Given the description of an element on the screen output the (x, y) to click on. 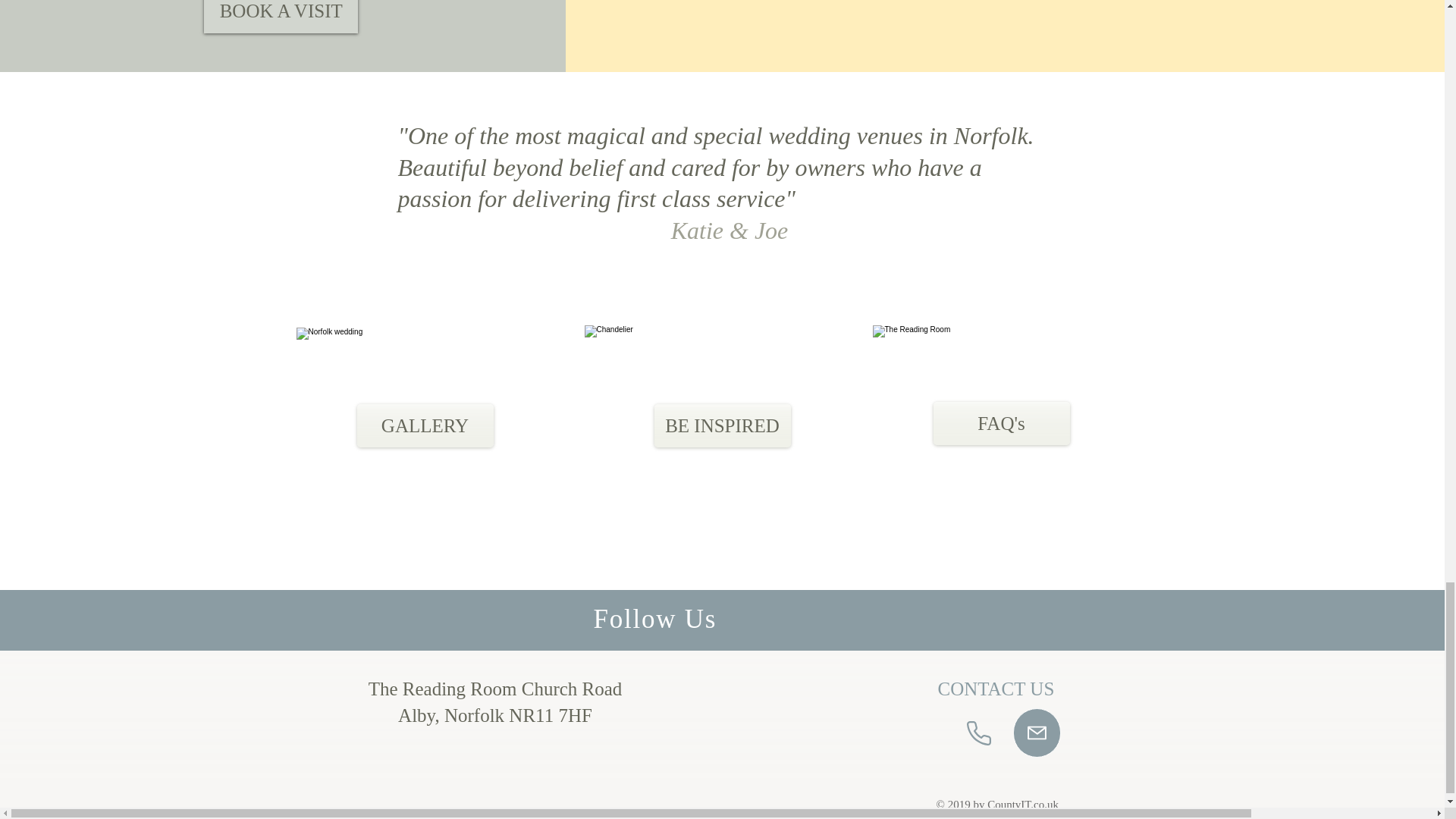
BE INSPIRED (721, 425)
GALLERY (424, 425)
FAQ's (1000, 423)
BOOK A VISIT (280, 16)
